Given the description of an element on the screen output the (x, y) to click on. 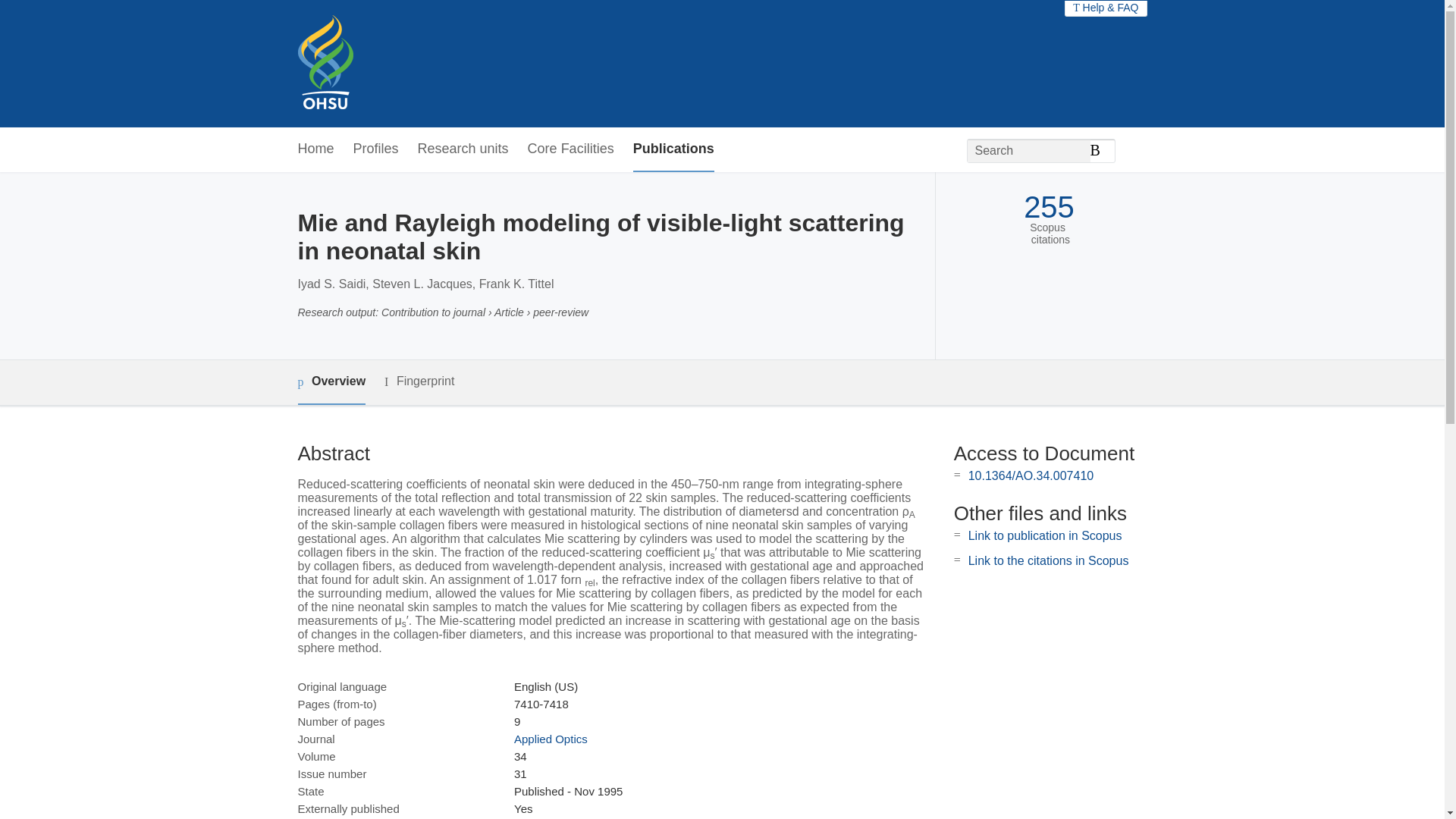
Home (315, 149)
Applied Optics (550, 738)
Research units (462, 149)
Profiles (375, 149)
Overview (331, 382)
Publications (673, 149)
Link to the citations in Scopus (1048, 560)
Fingerprint (419, 381)
255 (1048, 207)
Link to publication in Scopus (1045, 535)
Core Facilities (570, 149)
